Given the description of an element on the screen output the (x, y) to click on. 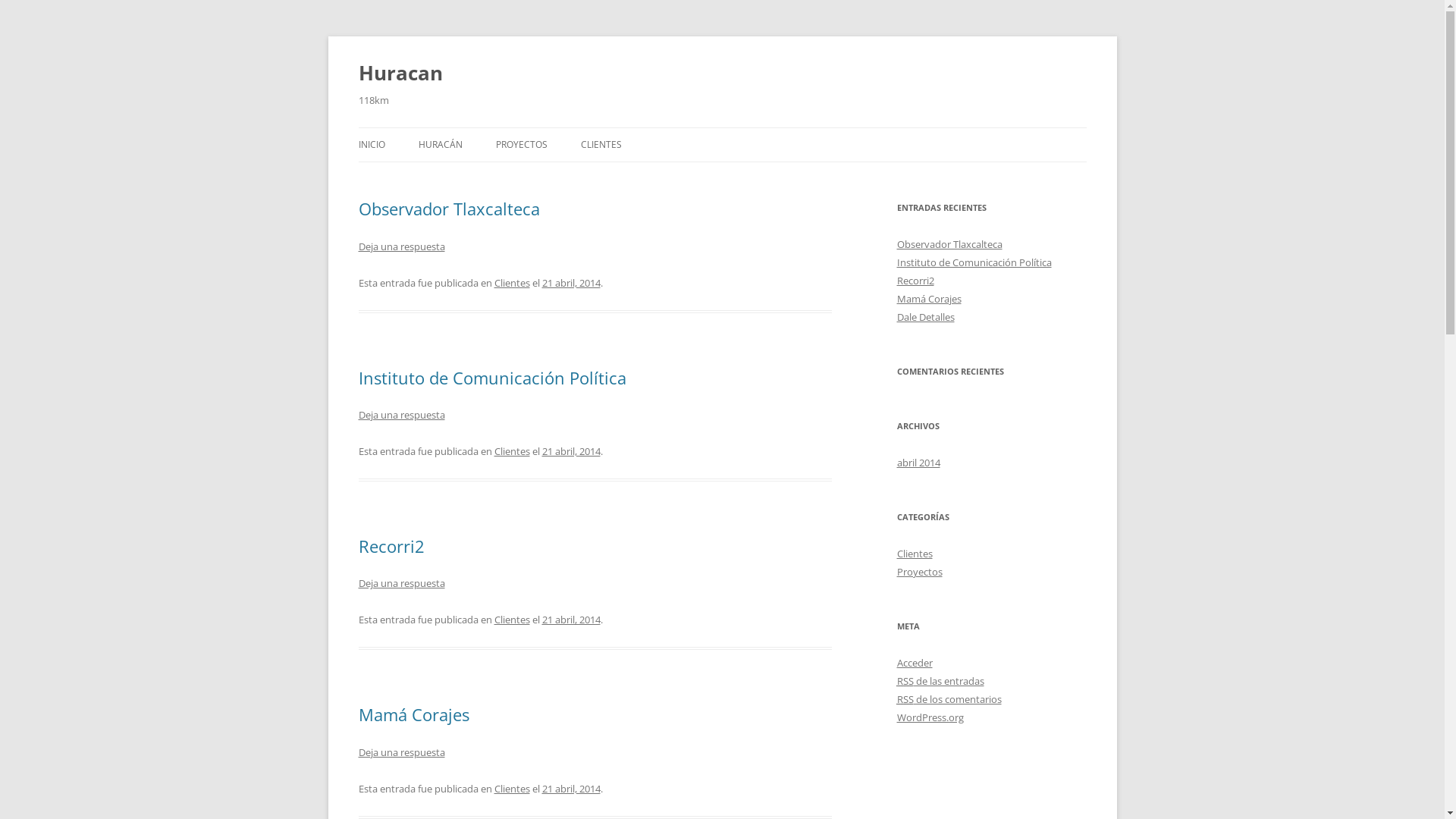
Huracan Element type: text (399, 72)
RSS de las entradas Element type: text (939, 680)
Deja una respuesta Element type: text (400, 246)
abril 2014 Element type: text (917, 462)
Recorri2 Element type: text (914, 280)
Recorri2 Element type: text (390, 545)
WordPress.org Element type: text (929, 717)
Clientes Element type: text (512, 451)
Observador Tlaxcalteca Element type: text (448, 208)
Acceder Element type: text (913, 662)
CLIENTES Element type: text (600, 144)
Clientes Element type: text (913, 553)
Clientes Element type: text (512, 788)
Observador Tlaxcalteca Element type: text (948, 244)
21 abril, 2014 Element type: text (570, 788)
21 abril, 2014 Element type: text (570, 282)
Clientes Element type: text (512, 619)
Deja una respuesta Element type: text (400, 582)
Clientes Element type: text (512, 282)
Deja una respuesta Element type: text (400, 414)
RSS de los comentarios Element type: text (948, 699)
Deja una respuesta Element type: text (400, 752)
Dale Detalles Element type: text (924, 316)
Proyectos Element type: text (918, 571)
21 abril, 2014 Element type: text (570, 451)
21 abril, 2014 Element type: text (570, 619)
PROYECTOS Element type: text (521, 144)
INICIO Element type: text (370, 144)
Ir al contenido Element type: text (758, 132)
